Given the description of an element on the screen output the (x, y) to click on. 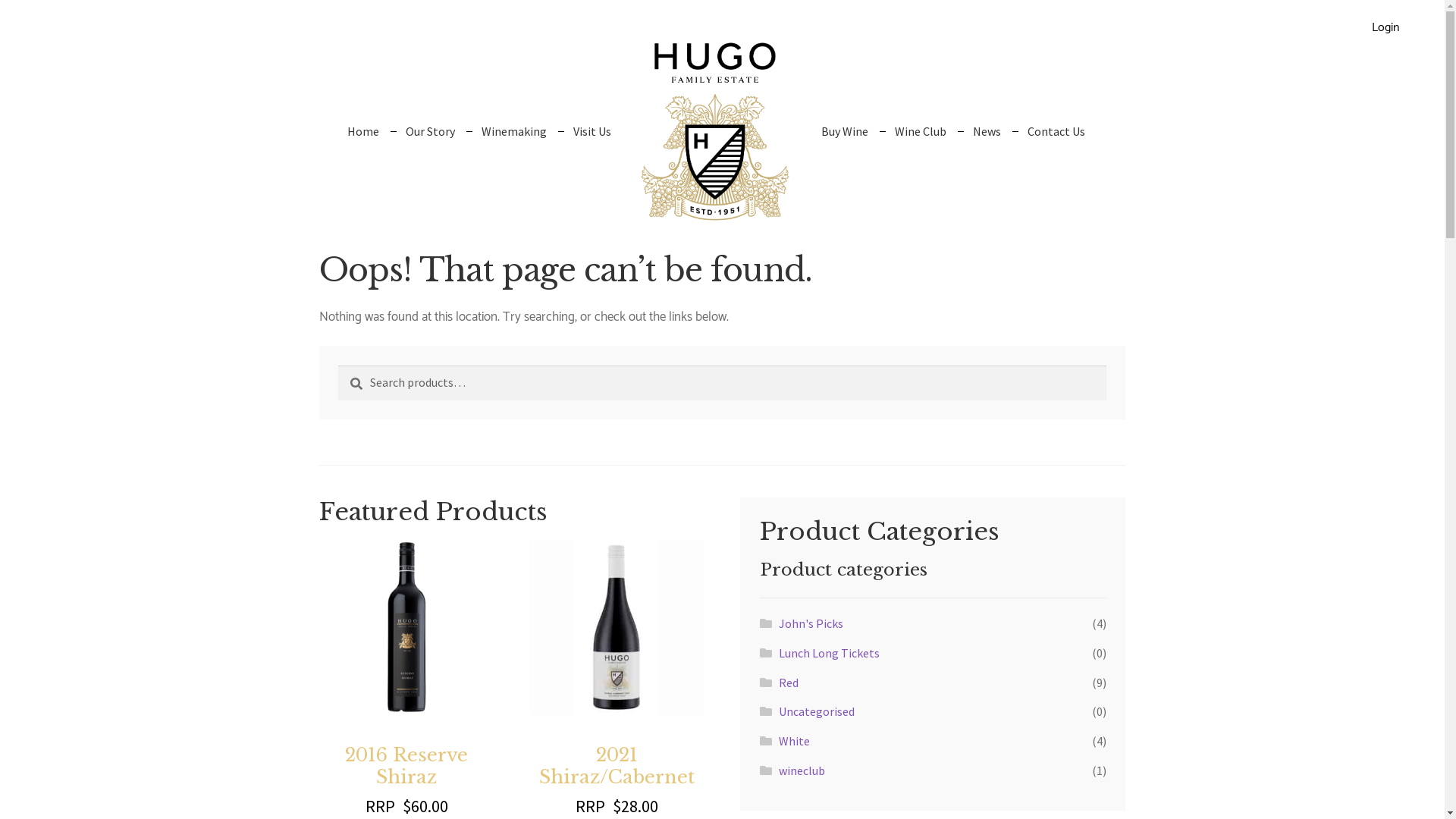
Contact Us Element type: text (1056, 141)
Skip to navigation Element type: text (318, 31)
White Element type: text (793, 740)
Buy Wine Element type: text (844, 141)
John's Picks Element type: text (810, 622)
Search Element type: text (337, 364)
News Element type: text (986, 141)
Home Element type: text (363, 141)
Login Element type: text (1385, 27)
2021 Shiraz/Cabernet
RRP$28.00 Element type: text (616, 678)
Uncategorised Element type: text (816, 710)
Our Story Element type: text (430, 141)
Wine Club Element type: text (920, 141)
wineclub Element type: text (801, 770)
2016 Reserve Shiraz
RRP$60.00 Element type: text (406, 678)
Red Element type: text (788, 682)
Lunch Long Tickets Element type: text (828, 652)
Visit Us Element type: text (592, 141)
Winemaking Element type: text (513, 141)
